Given the description of an element on the screen output the (x, y) to click on. 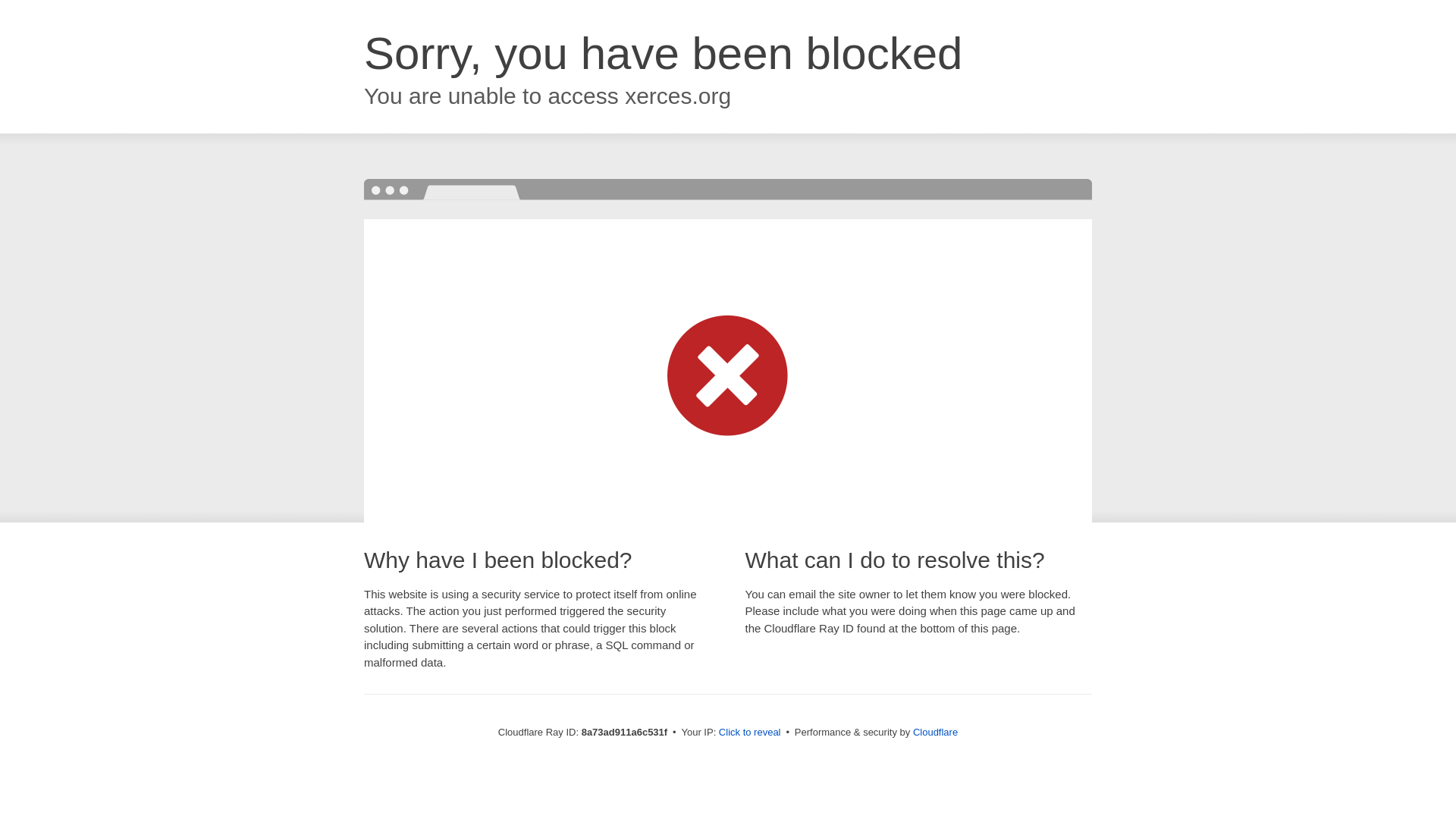
Cloudflare (935, 731)
Click to reveal (749, 732)
